Given the description of an element on the screen output the (x, y) to click on. 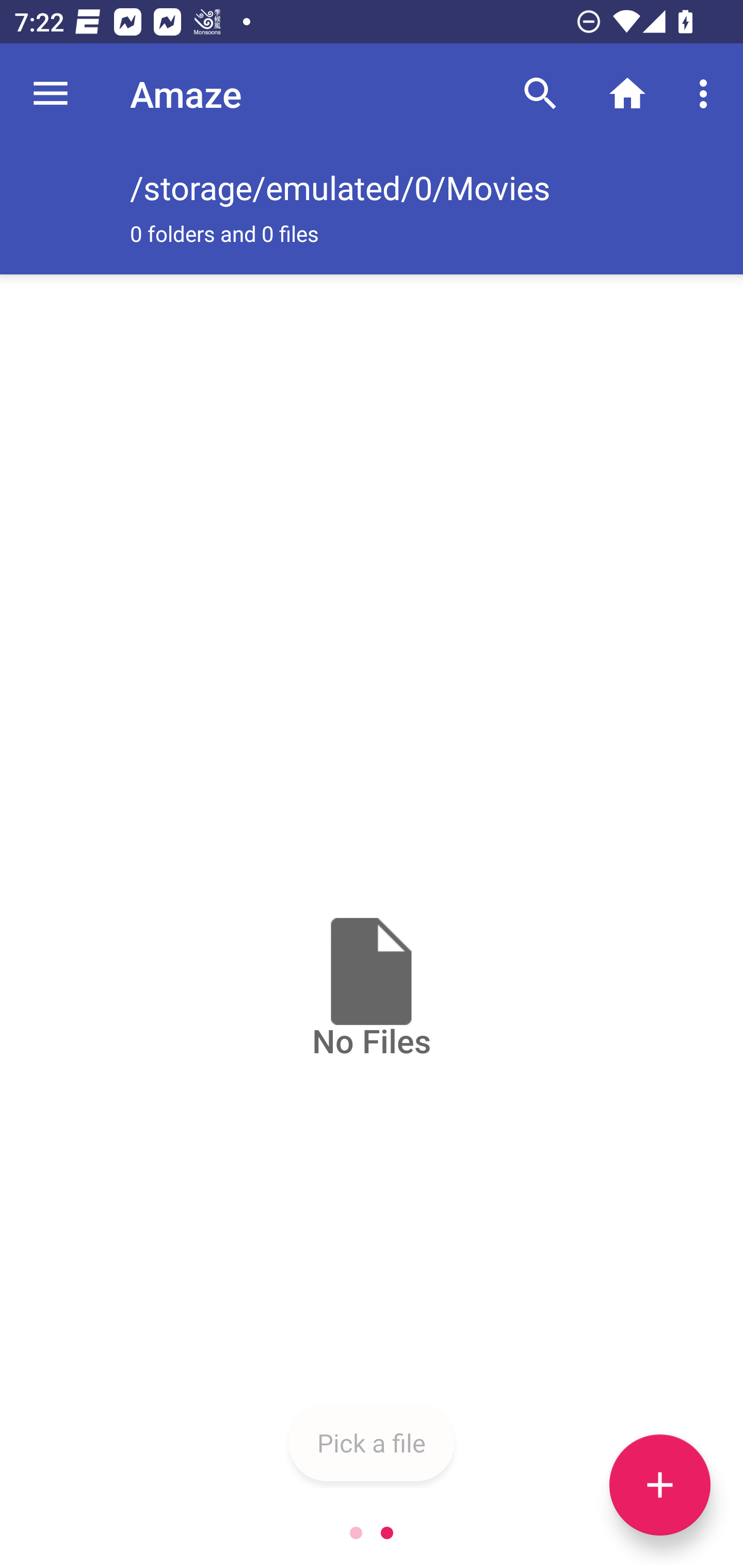
Navigate up (50, 93)
Search (540, 93)
Home (626, 93)
More options (706, 93)
